Given the description of an element on the screen output the (x, y) to click on. 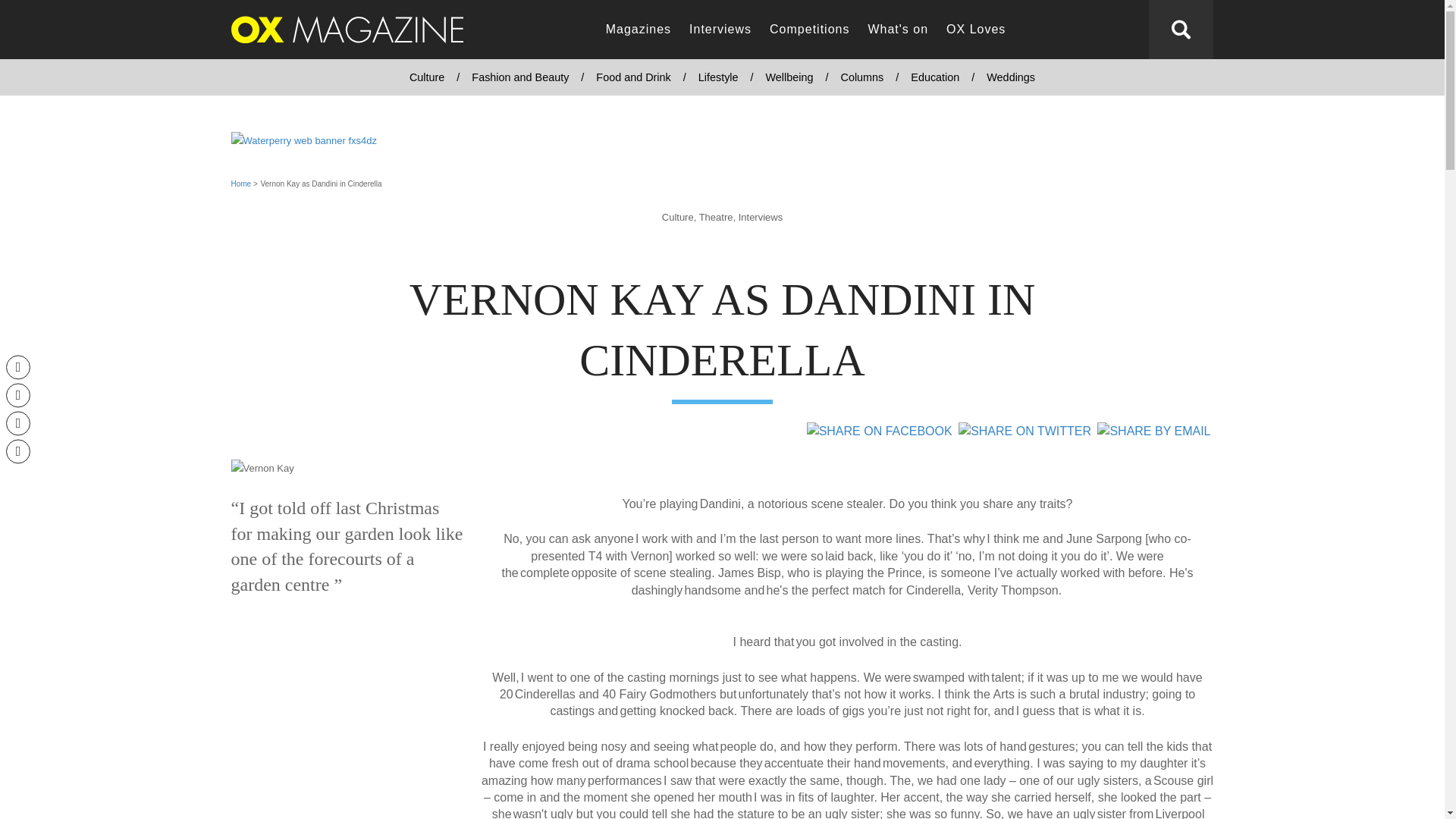
Fashion and Beauty (520, 77)
What's on (898, 29)
Home (240, 183)
Weddings (1010, 77)
Magazines (637, 29)
Competitions (809, 29)
OX Loves (975, 29)
Interviews (719, 29)
Lifestyle (718, 77)
Columns (861, 77)
Culture (427, 77)
Education (934, 77)
Wellbeing (789, 77)
Food and Drink (632, 77)
